Given the description of an element on the screen output the (x, y) to click on. 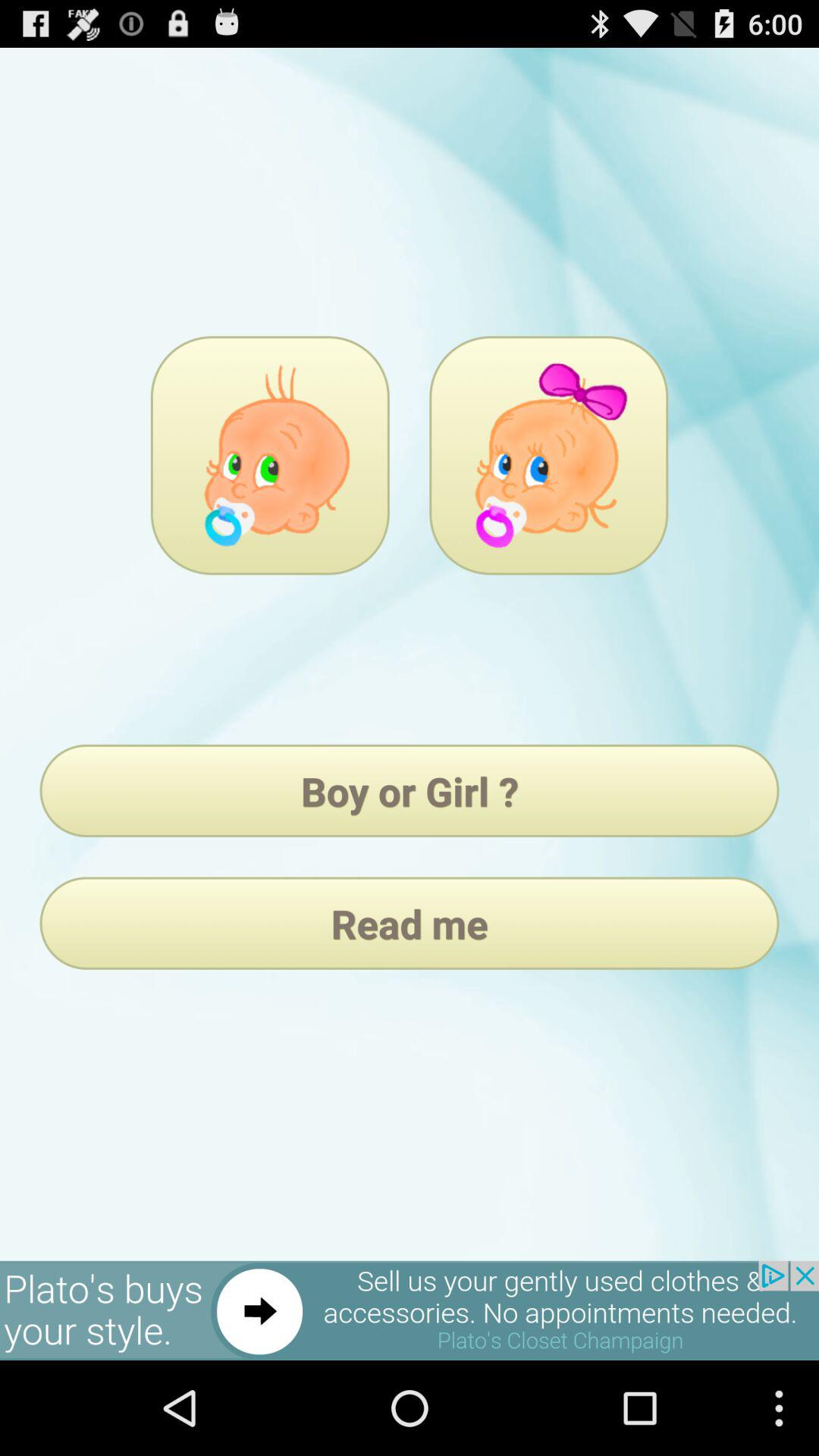
choose boy (269, 455)
